Given the description of an element on the screen output the (x, y) to click on. 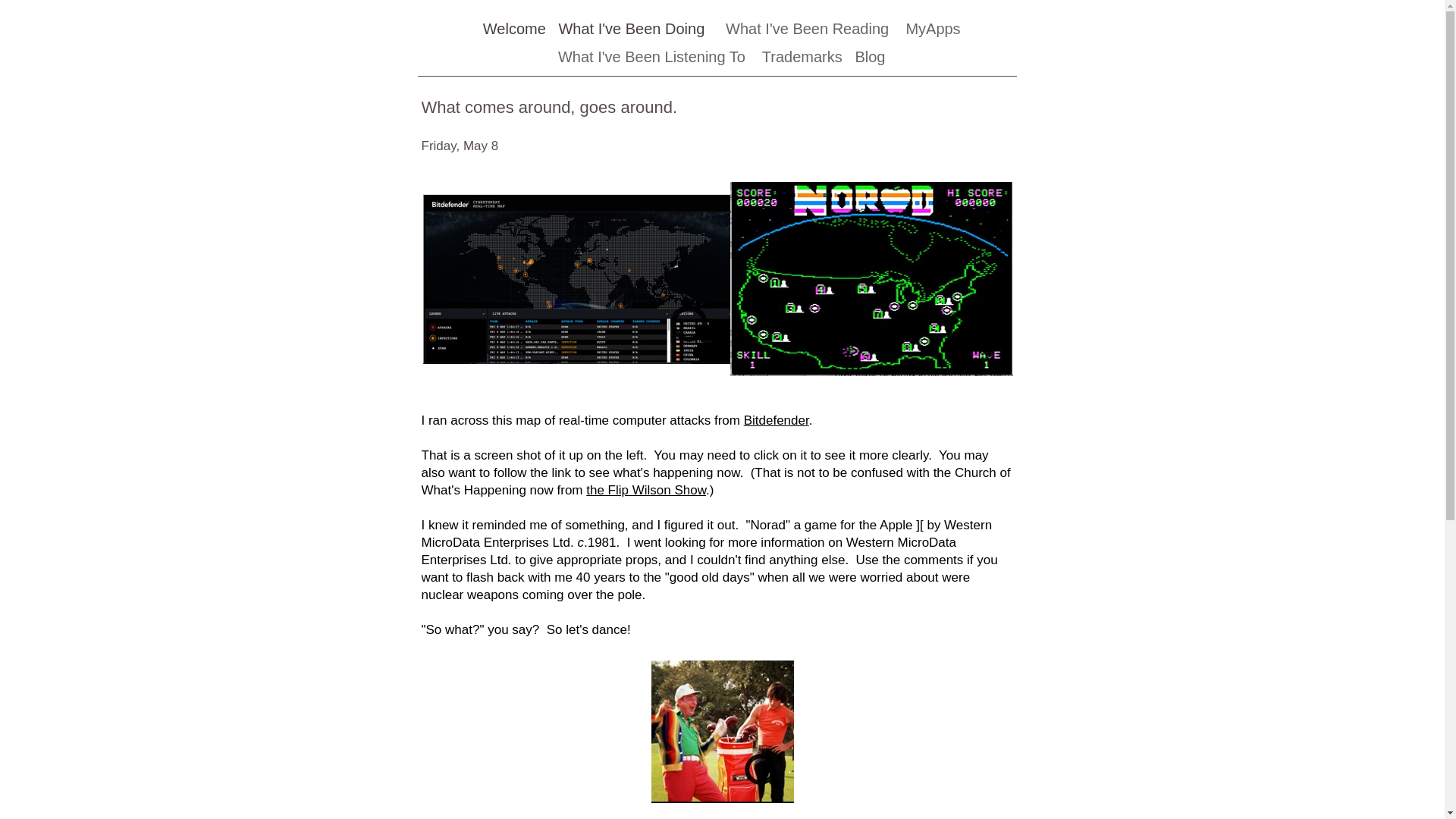
Bitdefender (776, 420)
What I've Been Listening To (653, 56)
What I've Been Reading (807, 28)
Blog (869, 56)
Trademarks (802, 56)
Welcome (514, 28)
What I've Been Doing     (638, 28)
MyApps (932, 28)
the Flip Wilson Show (646, 490)
